Given the description of an element on the screen output the (x, y) to click on. 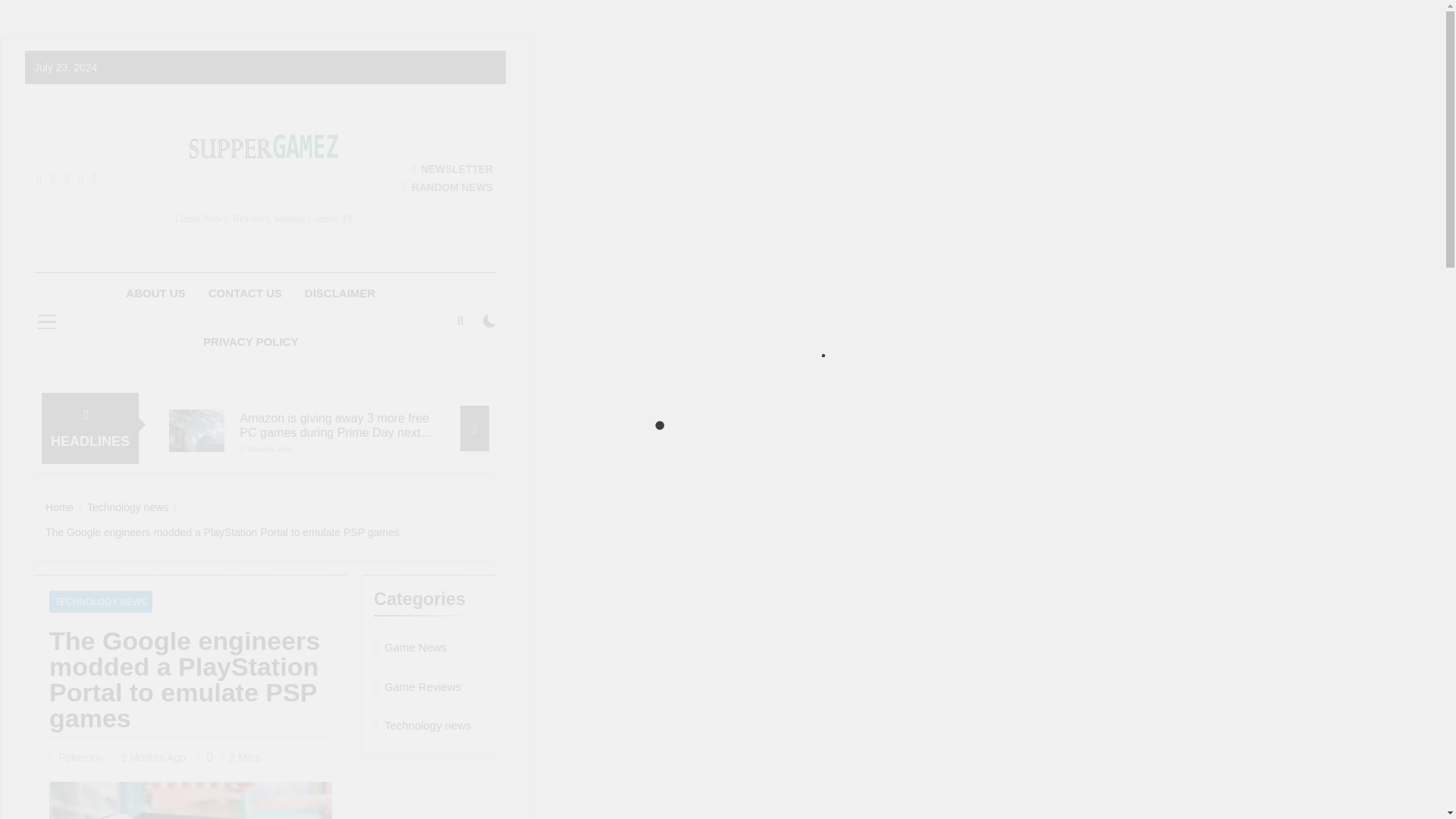
2 Weeks Ago (267, 449)
RANDOM NEWS (448, 186)
PRIVACY POLICY (250, 341)
Supergamez.Com (282, 221)
on (489, 320)
NEWSLETTER (452, 168)
ABOUT US (155, 292)
DISCLAIMER (340, 292)
CONTACT US (245, 292)
